Given the description of an element on the screen output the (x, y) to click on. 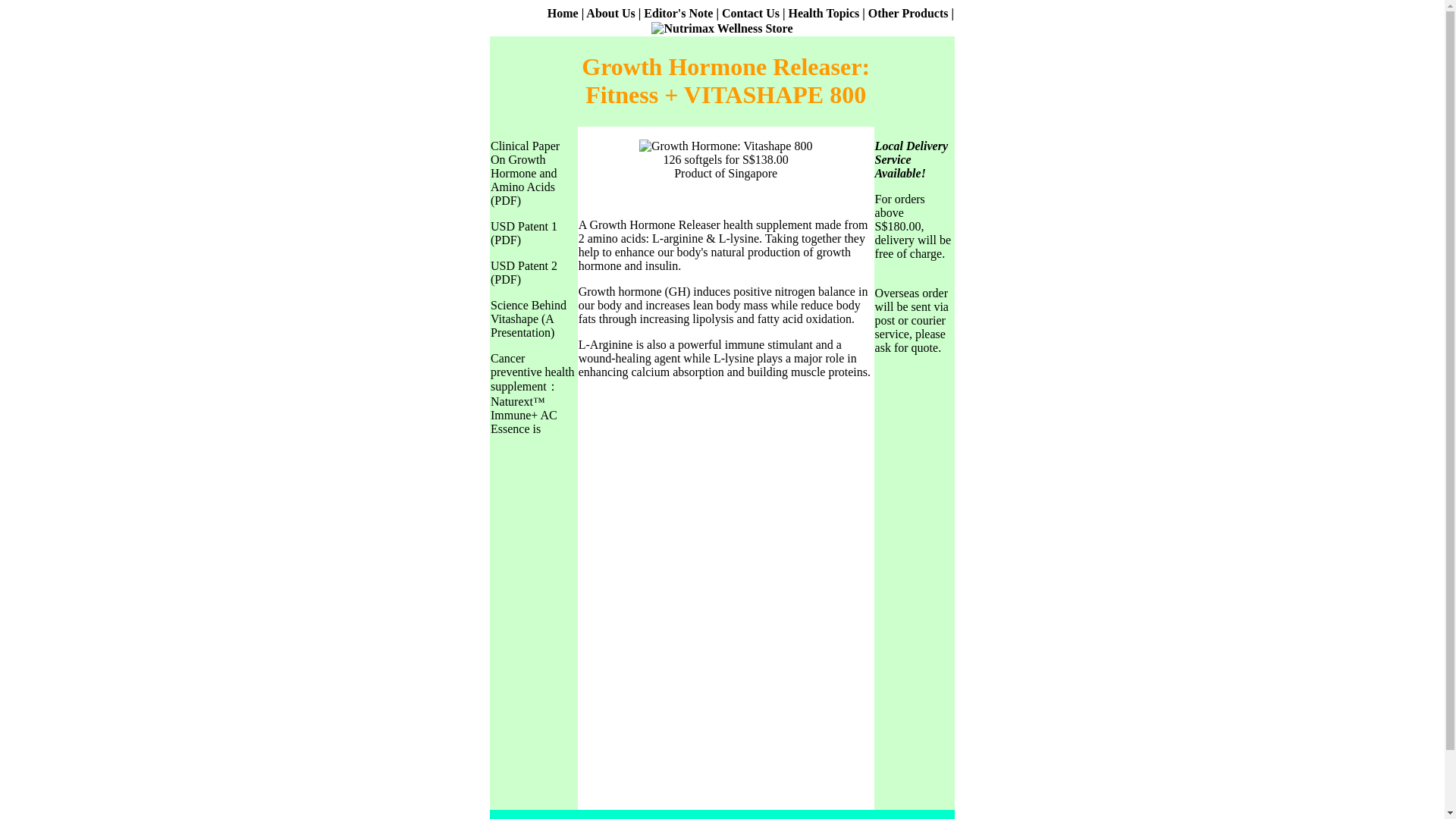
Products (924, 12)
USD Patent 1 (523, 226)
Contact Us (752, 12)
Health Topics (823, 12)
USD Patent 2 (523, 265)
Home (562, 12)
Editor's Note (678, 12)
About Us (610, 12)
